Given the description of an element on the screen output the (x, y) to click on. 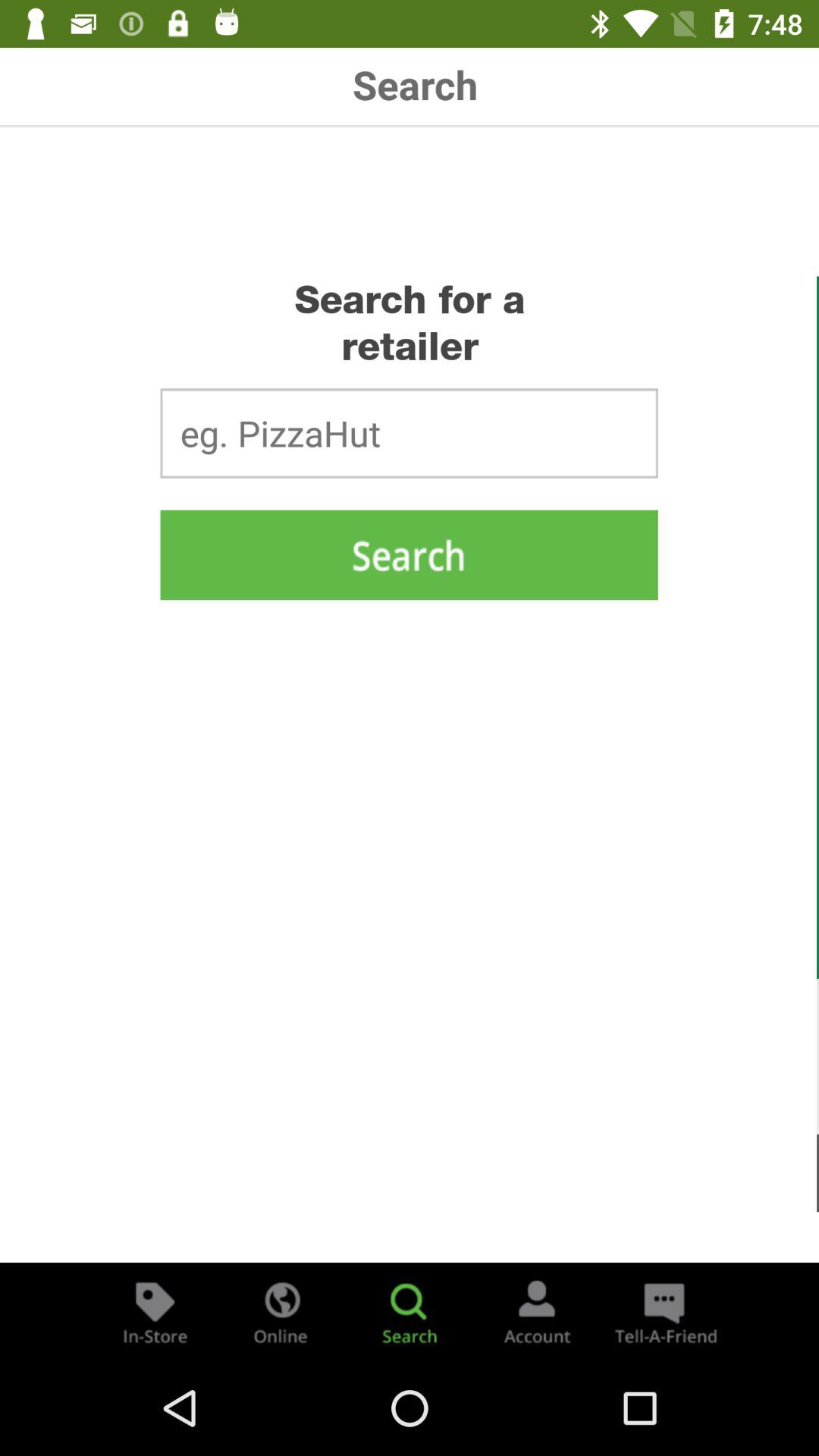
search for retailer (409, 1311)
